Given the description of an element on the screen output the (x, y) to click on. 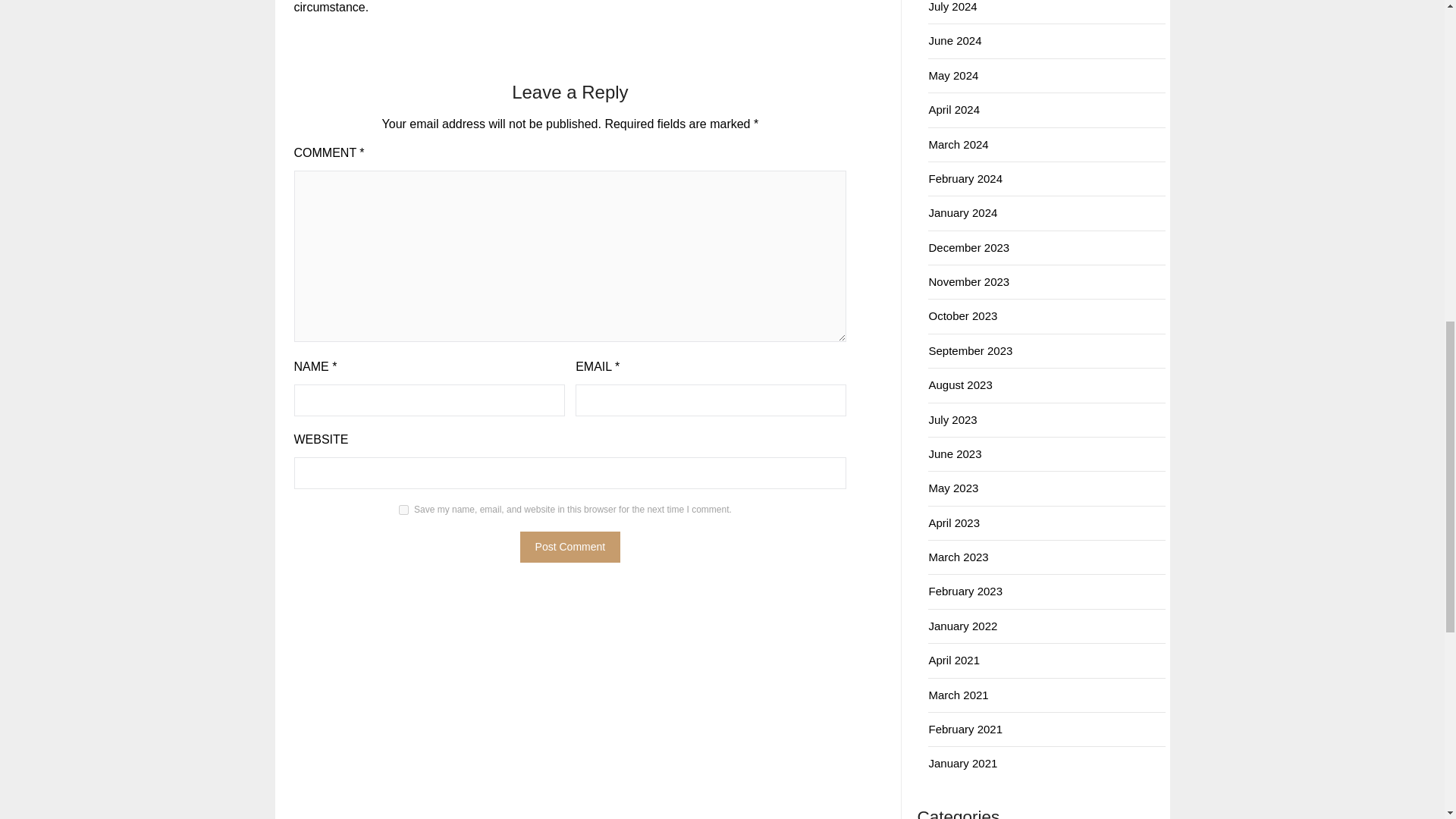
July 2024 (952, 6)
February 2023 (965, 590)
October 2023 (962, 315)
March 2024 (958, 144)
June 2023 (954, 453)
July 2023 (952, 419)
August 2023 (959, 384)
November 2023 (968, 281)
yes (403, 510)
Post Comment (570, 545)
Post Comment (570, 545)
February 2024 (965, 178)
September 2023 (969, 350)
January 2024 (962, 212)
March 2023 (958, 556)
